Given the description of an element on the screen output the (x, y) to click on. 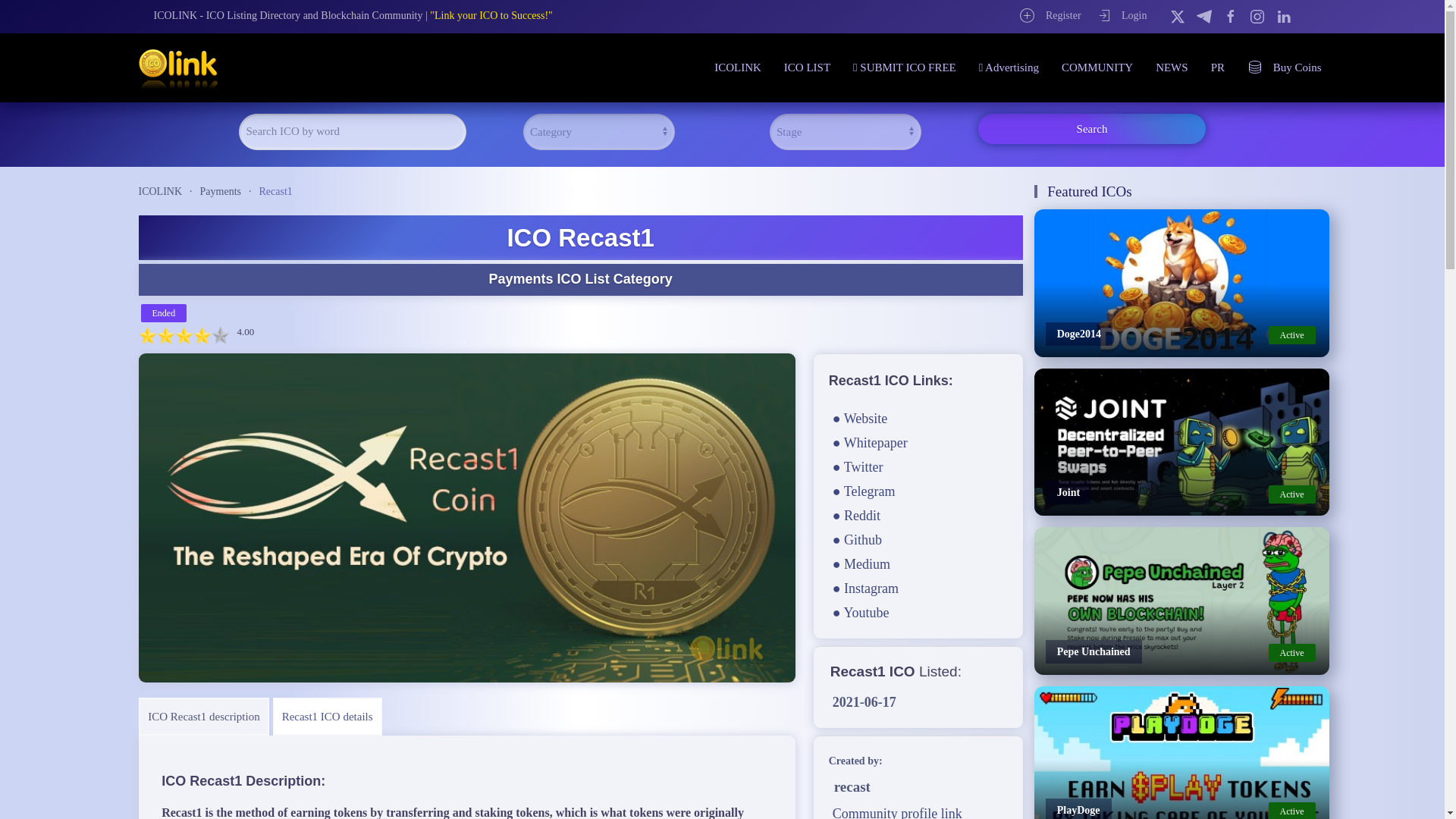
Twitter (1177, 15)
Register (1050, 15)
LinkedIN (1282, 15)
Instagram (1257, 15)
Facebook (1230, 15)
Login (1121, 15)
Telegram (1203, 15)
